Given the description of an element on the screen output the (x, y) to click on. 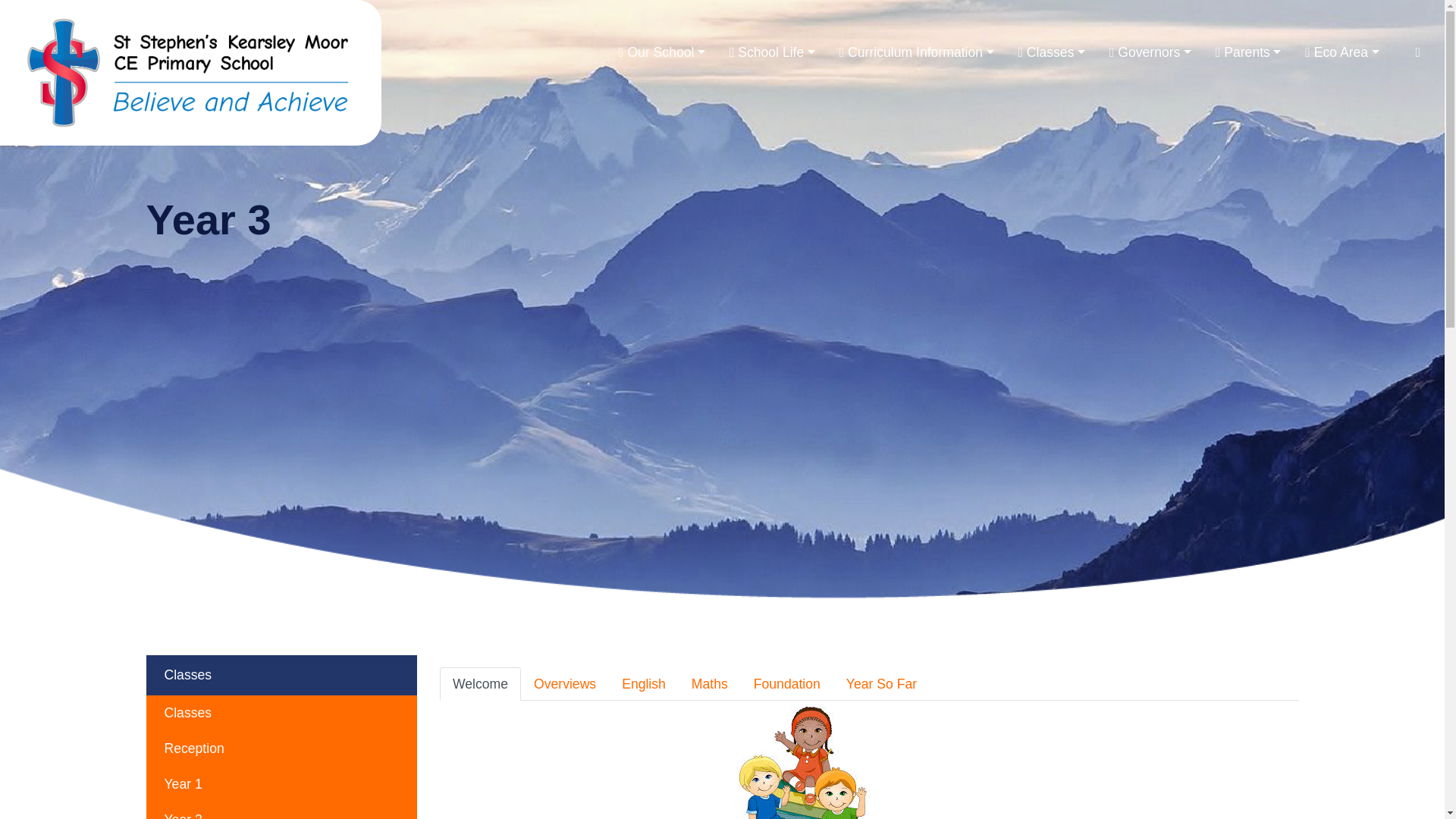
Our School (662, 51)
X (1417, 51)
Curriculum Information (916, 51)
School Life (772, 51)
